Given the description of an element on the screen output the (x, y) to click on. 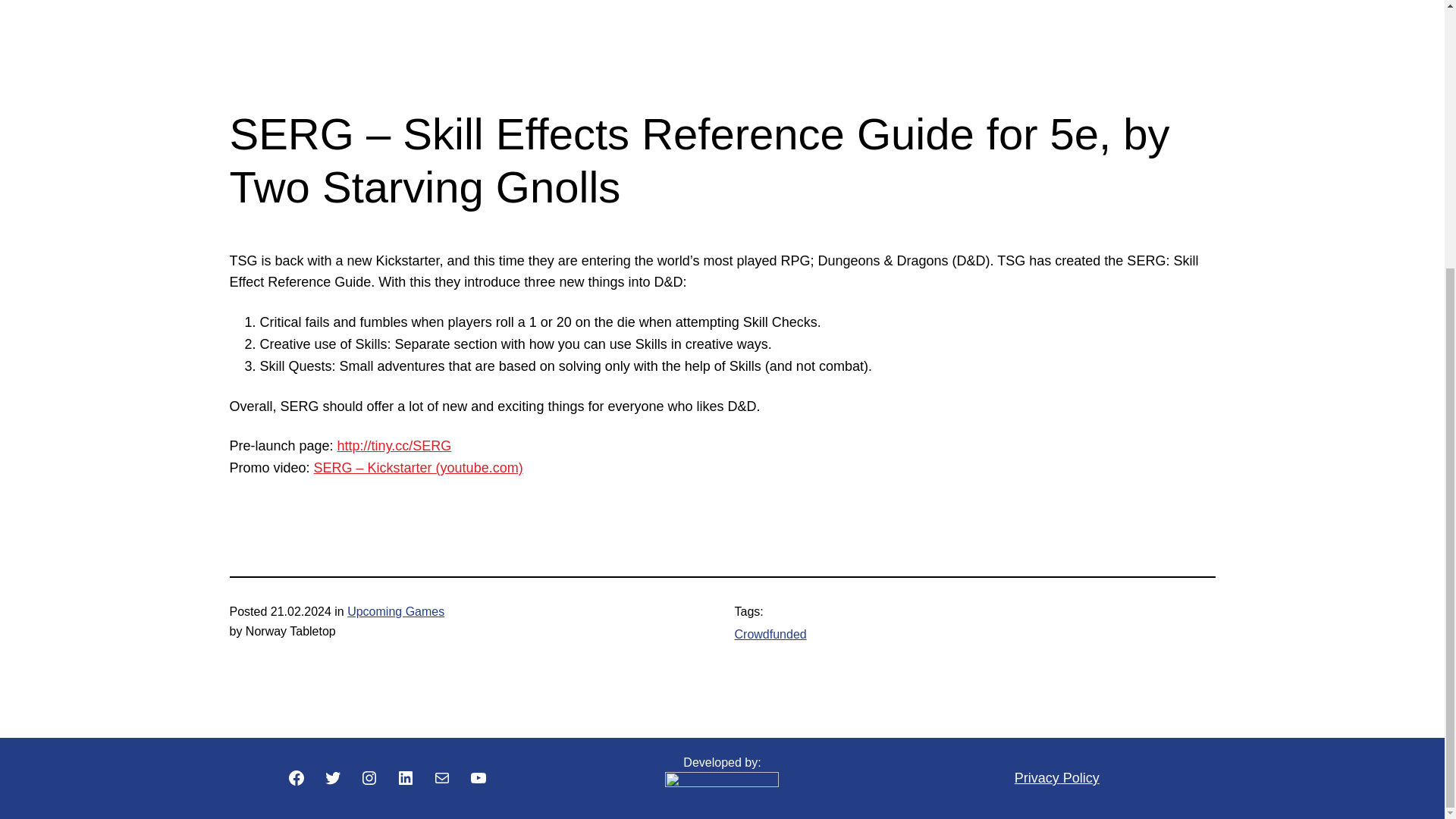
Upcoming Games (395, 611)
Twitter (332, 778)
Privacy Policy (1056, 777)
YouTube (477, 778)
Mail (441, 778)
Crowdfunded (769, 634)
Instagram (368, 778)
LinkedIn (405, 778)
Facebook (295, 778)
